Given the description of an element on the screen output the (x, y) to click on. 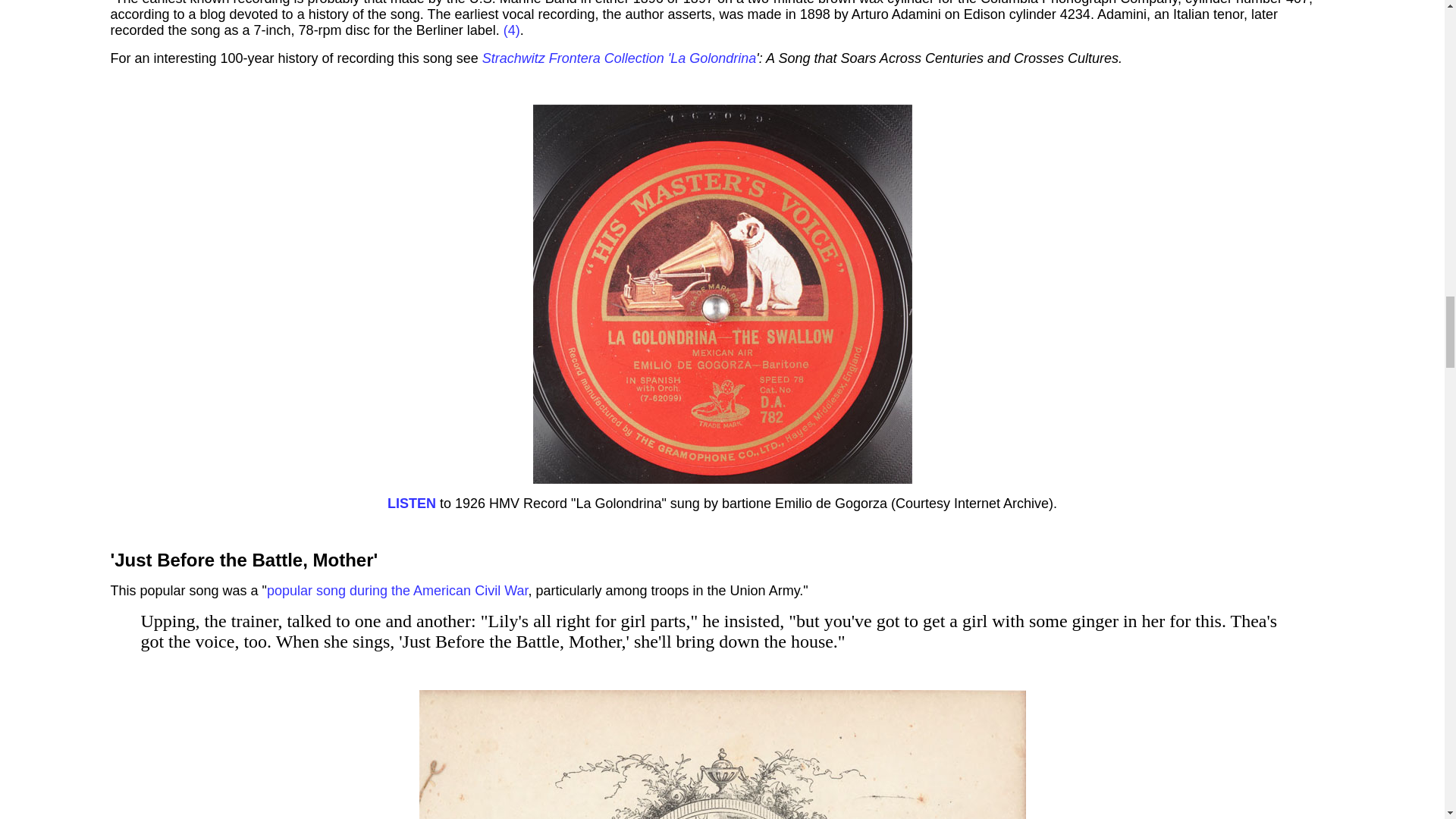
LISTEN (411, 503)
Strachwitz Frontera Collection 'La Golondrina (619, 58)
popular song during the American Civil War (397, 590)
